Given the description of an element on the screen output the (x, y) to click on. 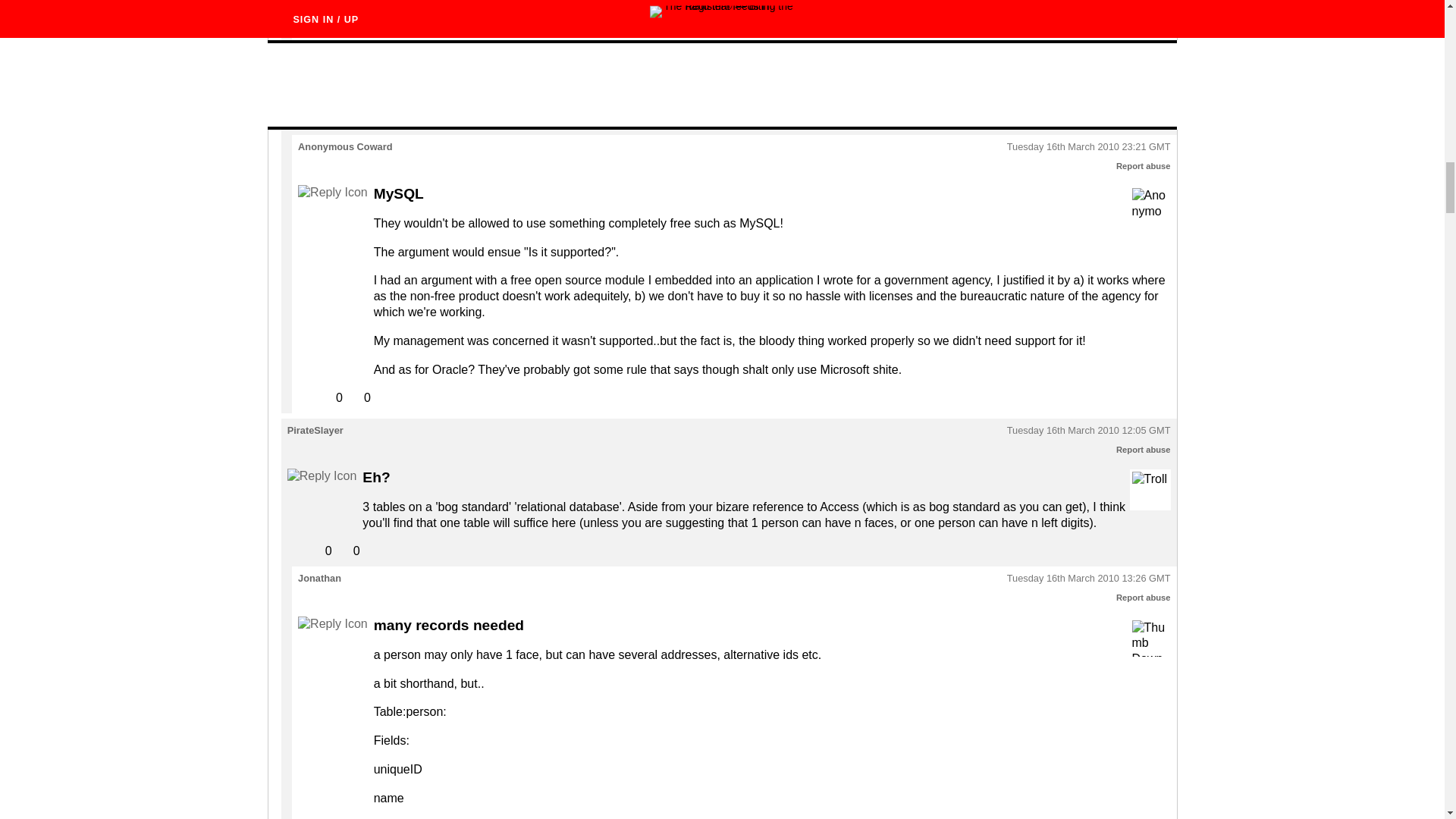
Report abuse (1143, 449)
Report abuse (1143, 165)
Report abuse (1143, 596)
